Given the description of an element on the screen output the (x, y) to click on. 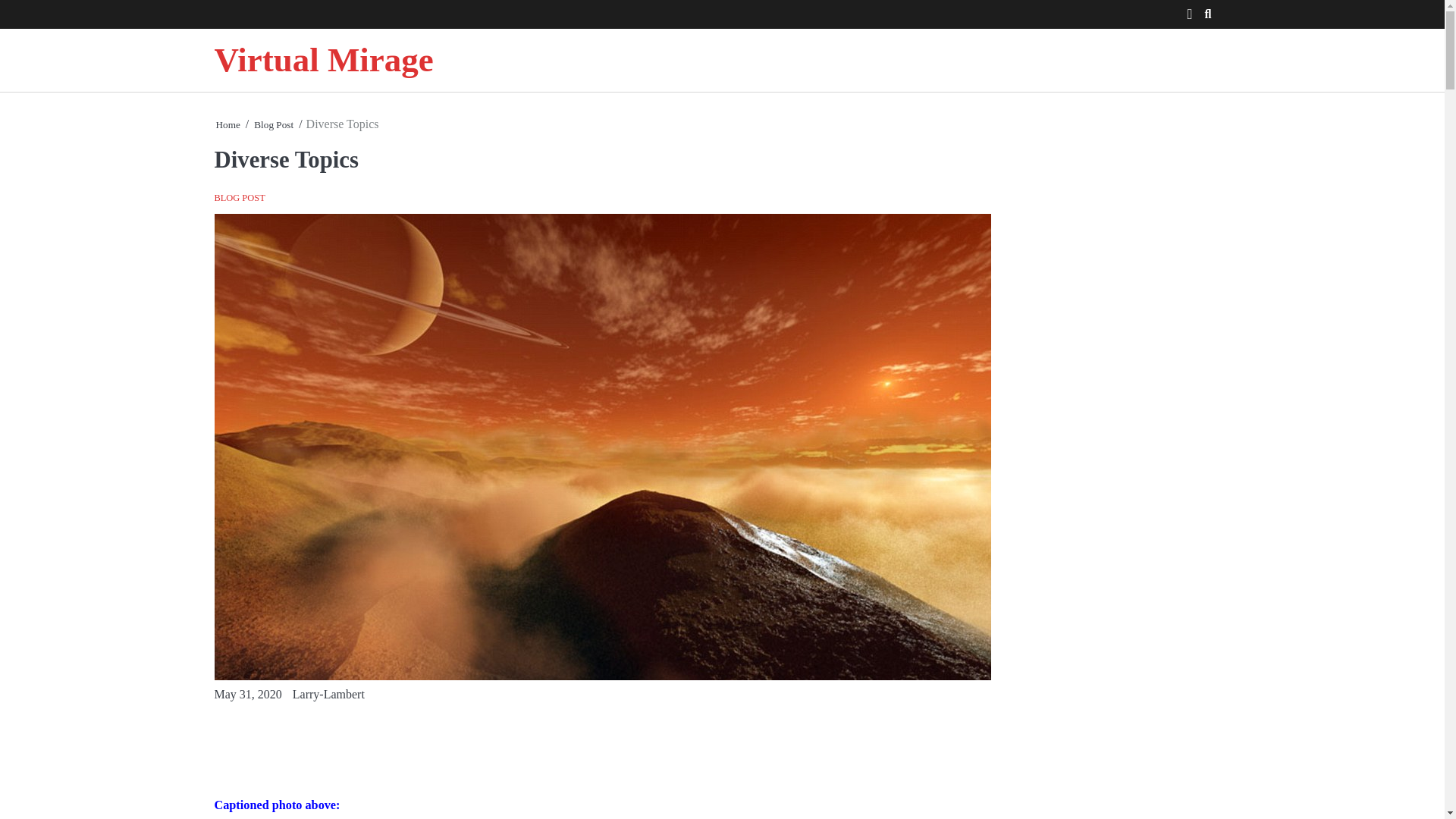
Virtual Mirage (323, 59)
Blog Post (273, 124)
Home (227, 124)
BLOG POST (239, 197)
Larry-Lambert (328, 694)
Search (1191, 45)
May 31, 2020 (247, 694)
